Given the description of an element on the screen output the (x, y) to click on. 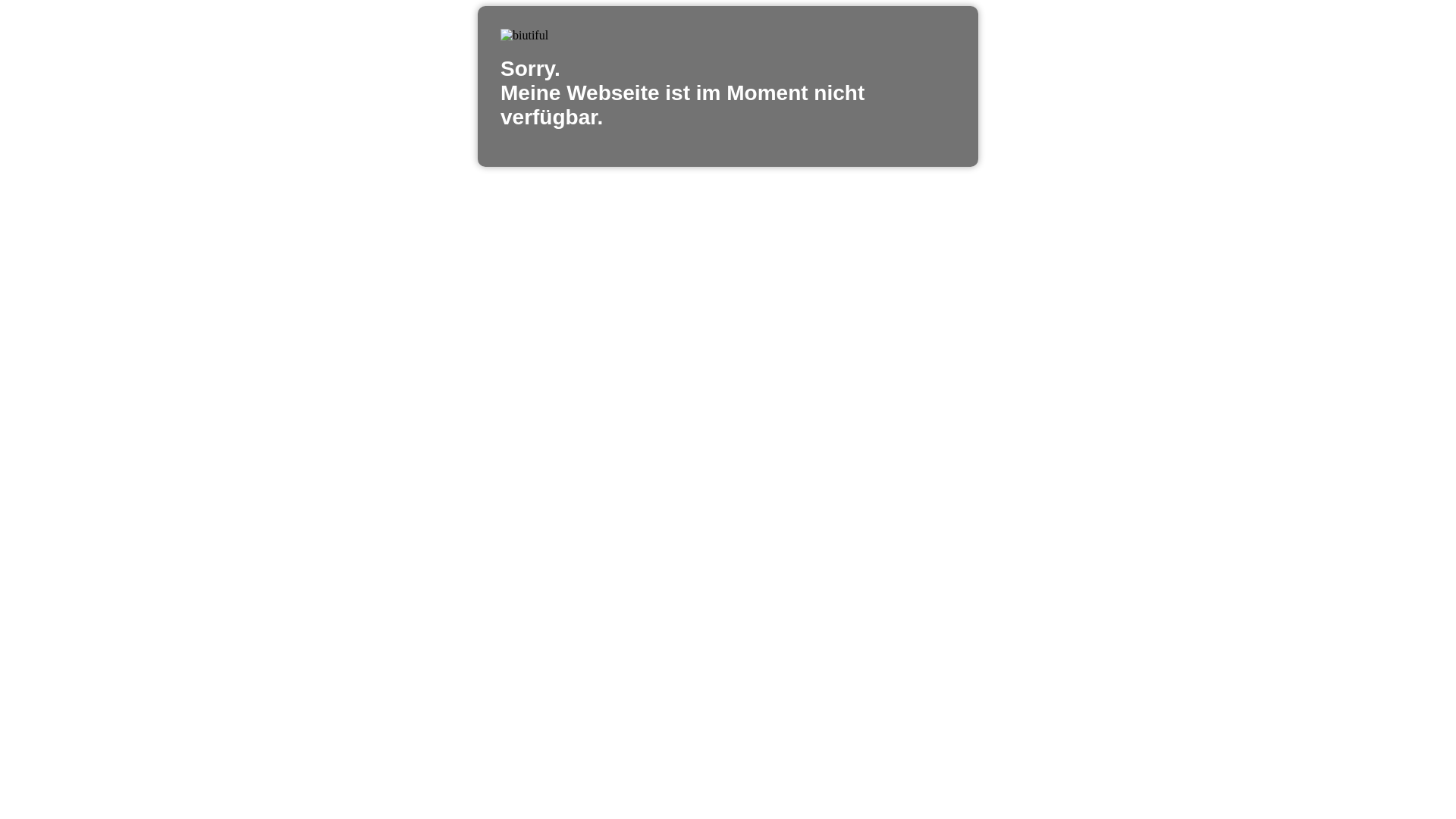
biutiful Element type: hover (524, 35)
